Given the description of an element on the screen output the (x, y) to click on. 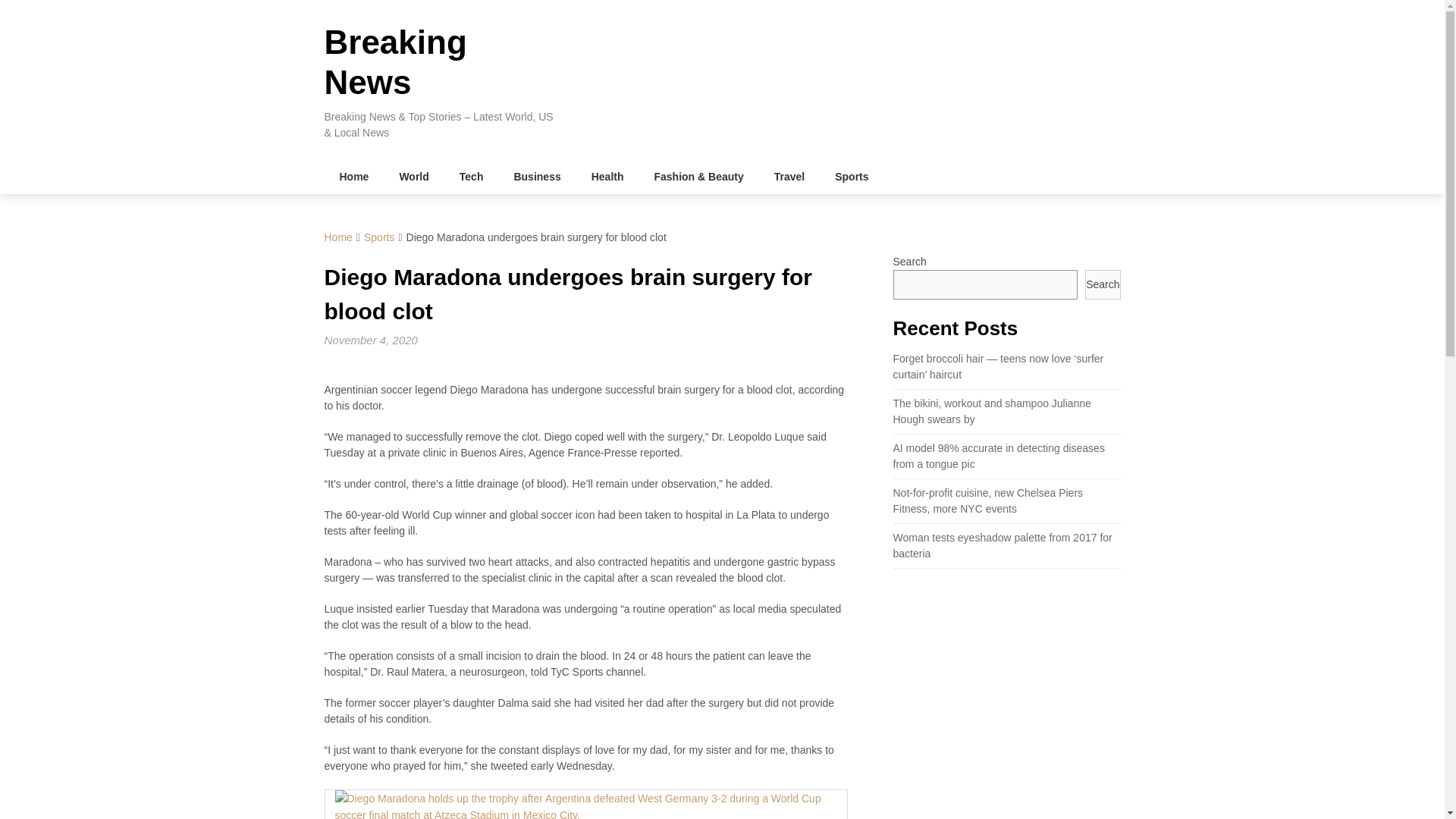
Tech (471, 176)
Home (354, 176)
Travel (788, 176)
Sports (851, 176)
Home (338, 236)
Search (1101, 284)
Breaking News (395, 61)
The bikini, workout and shampoo Julianne Hough swears by  (992, 411)
Sports (379, 236)
